Given the description of an element on the screen output the (x, y) to click on. 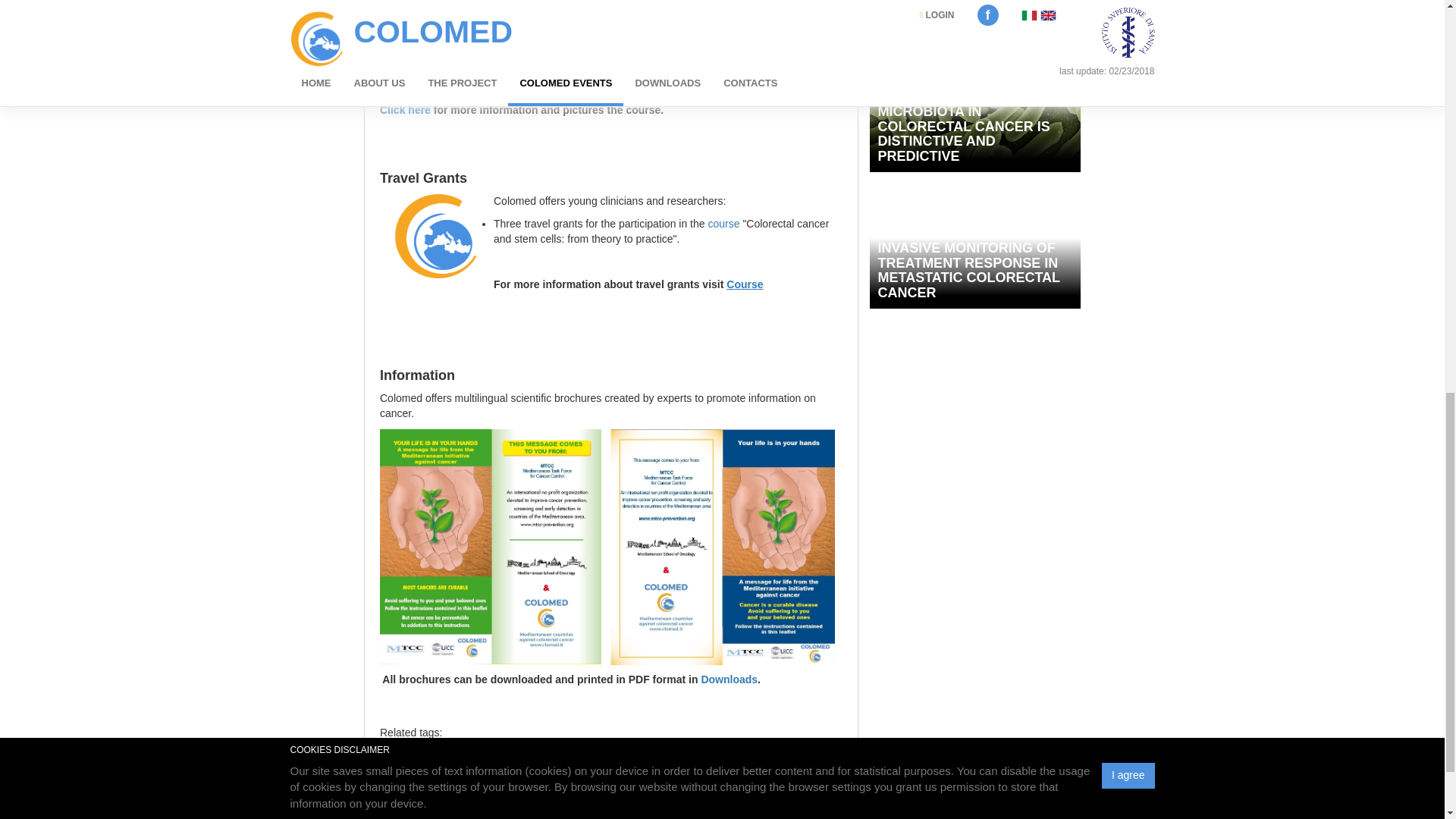
Downloads (728, 679)
COLOMED (405, 764)
WORKSHOP (518, 764)
ABSTRACT (580, 764)
FELLOWSHIP (643, 764)
course (723, 223)
Course (744, 284)
COURSE (459, 764)
Click here (406, 110)
